Given the description of an element on the screen output the (x, y) to click on. 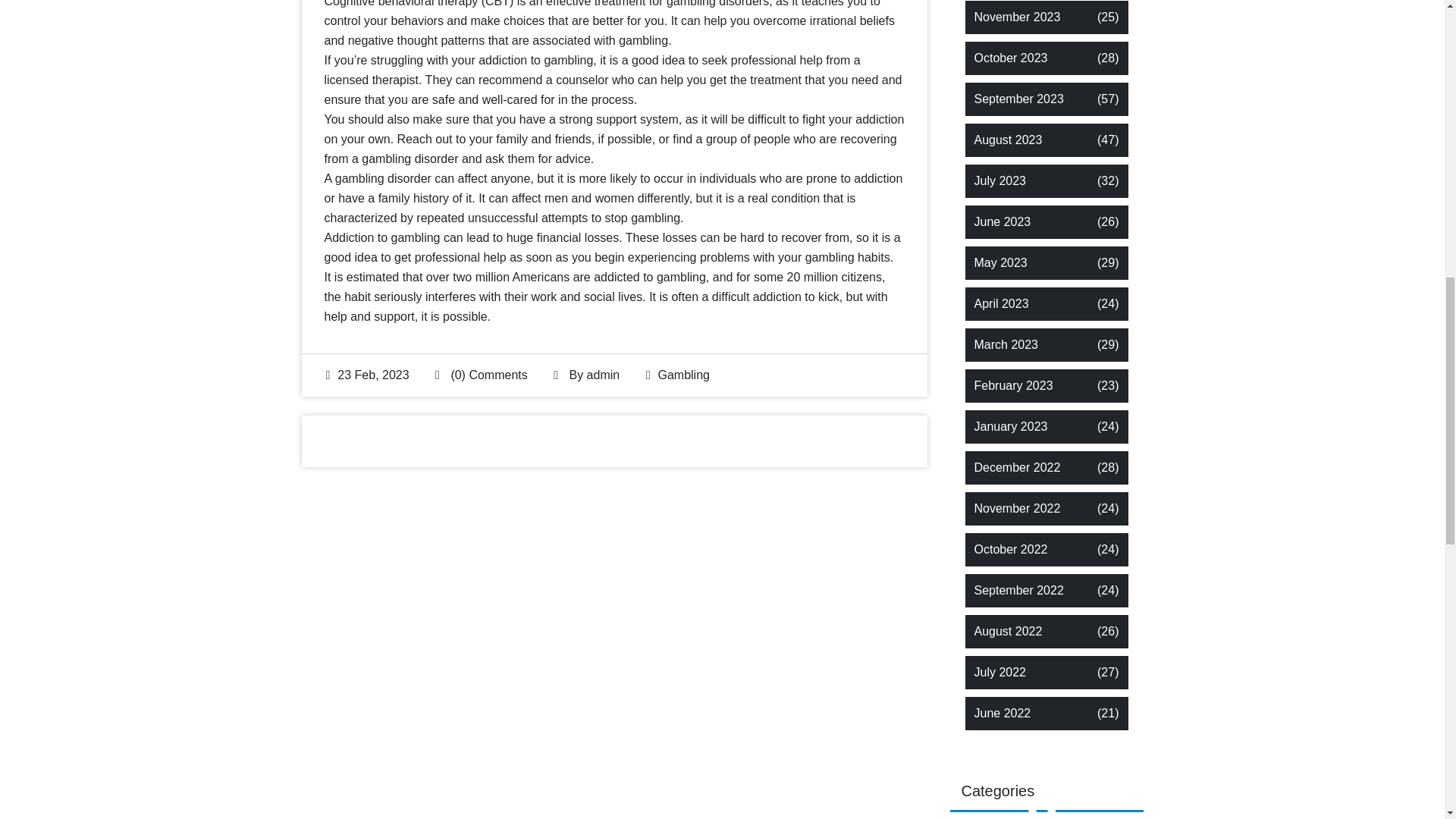
23 Feb, 2023 (367, 374)
July 2023 (1000, 180)
Gambling (683, 374)
November 2023 (1016, 17)
June 2023 (1002, 221)
April 2023 (1000, 303)
December 2022 (1016, 467)
October 2023 (1010, 58)
August 2023 (1008, 140)
November 2022 (1016, 508)
